Given the description of an element on the screen output the (x, y) to click on. 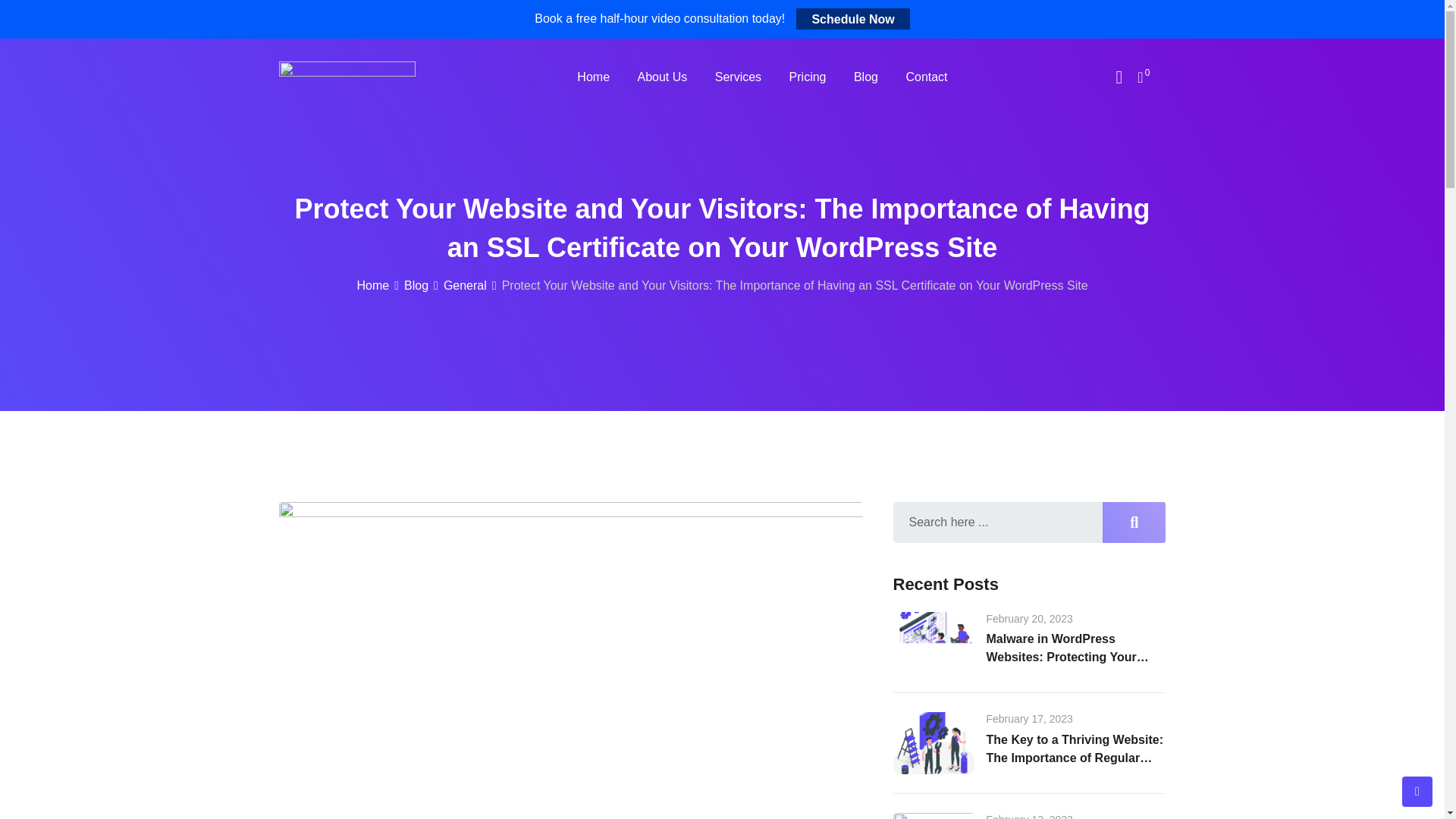
Home (372, 285)
Schedule Now (852, 18)
Go to Blog. (416, 285)
Go to the General category archives. (465, 285)
Blog (416, 285)
Services (738, 77)
About Us (661, 77)
